Given the description of an element on the screen output the (x, y) to click on. 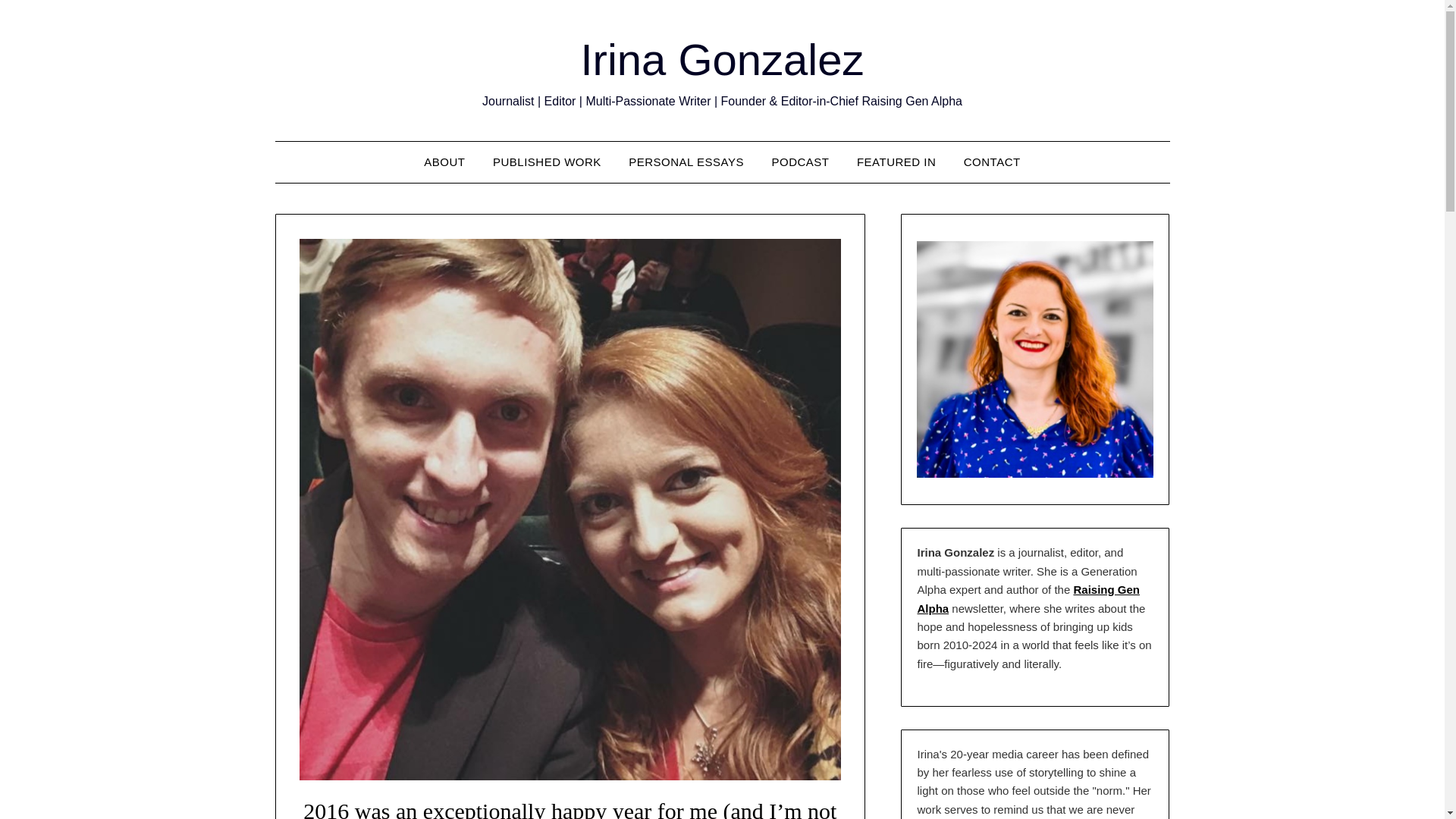
ABOUT (444, 161)
PUBLISHED WORK (546, 161)
PODCAST (799, 161)
CONTACT (992, 161)
Raising Gen Alpha (1028, 598)
FEATURED IN (895, 161)
Irina Gonzalez (722, 59)
PERSONAL ESSAYS (685, 161)
